Given the description of an element on the screen output the (x, y) to click on. 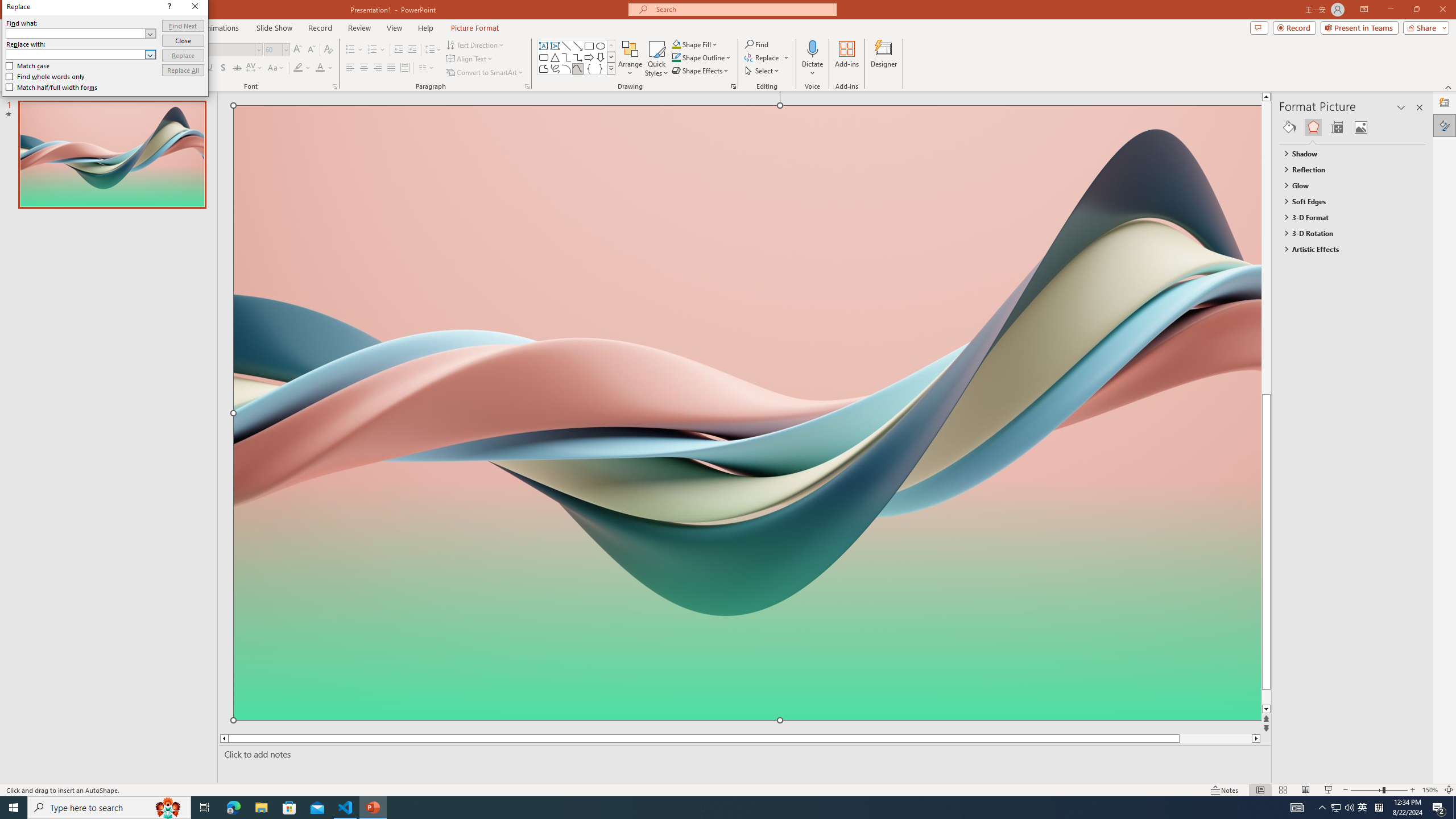
Microsoft Edge (233, 807)
Replace with (75, 53)
Strikethrough (237, 67)
Find... (756, 44)
Text Highlight Color Yellow (297, 67)
Shape Outline Blue, Accent 1 (675, 56)
Match case (27, 65)
Center (363, 67)
Align Right (377, 67)
Decrease Indent (398, 49)
Font... (334, 85)
AutomationID: 4105 (1297, 807)
